Given the description of an element on the screen output the (x, y) to click on. 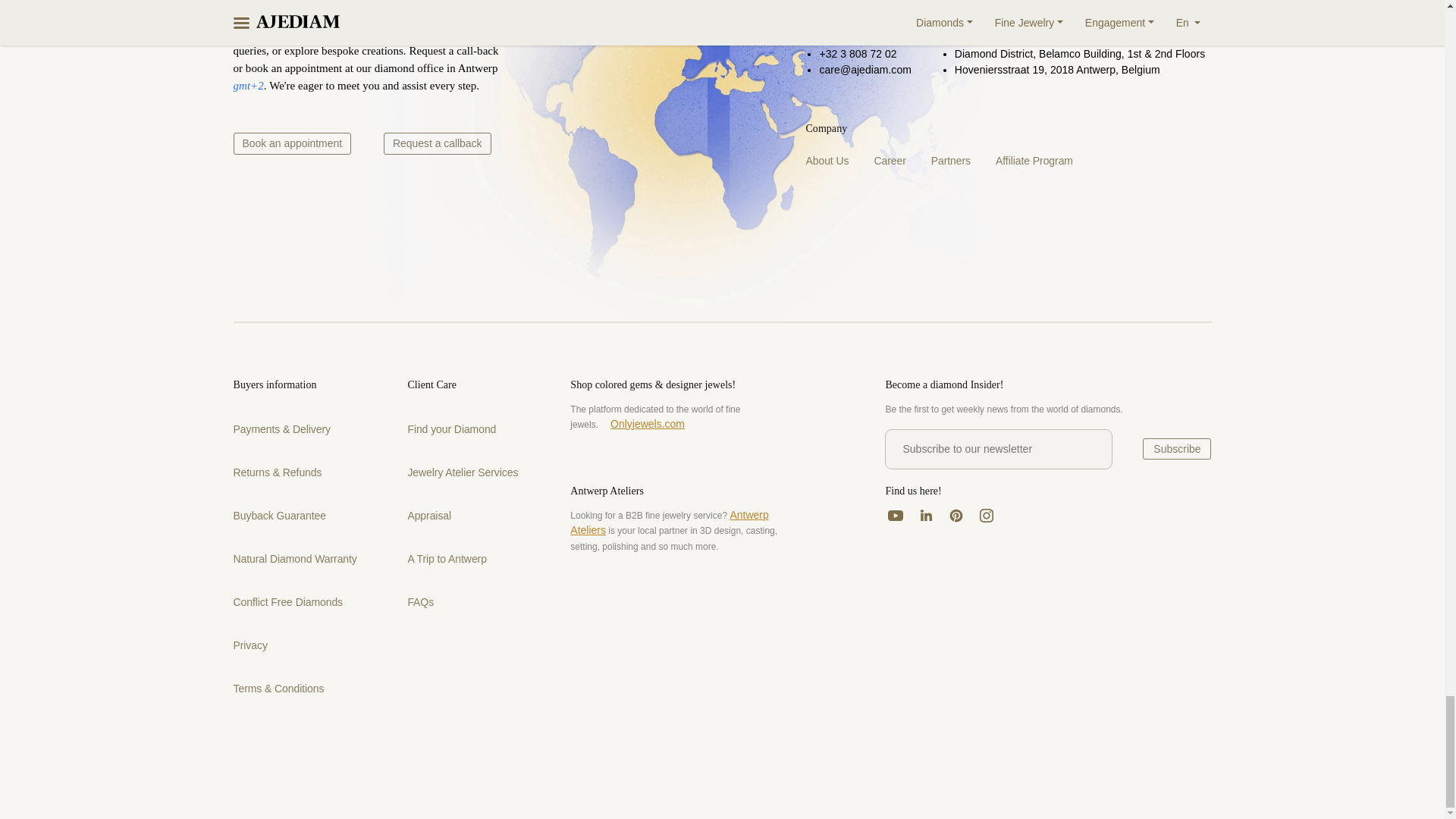
Subscribe (1176, 448)
